Given the description of an element on the screen output the (x, y) to click on. 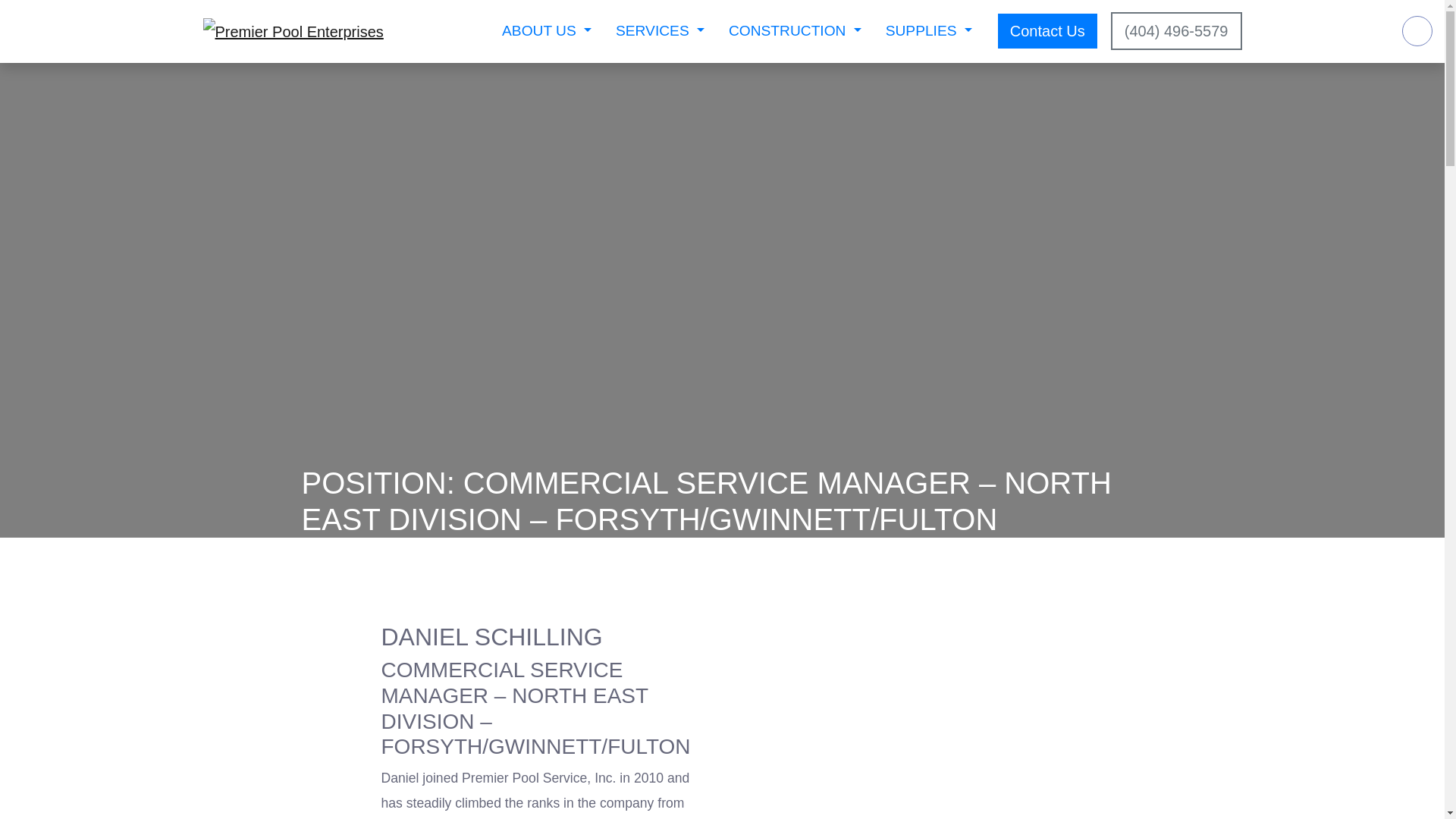
SUPPLIES (928, 31)
ABOUT US (546, 31)
SERVICES (660, 31)
Contact Us (1047, 30)
Switch to high color contrast version of the website (1417, 30)
CONSTRUCTION (794, 31)
Skip to main content (13, 7)
